Given the description of an element on the screen output the (x, y) to click on. 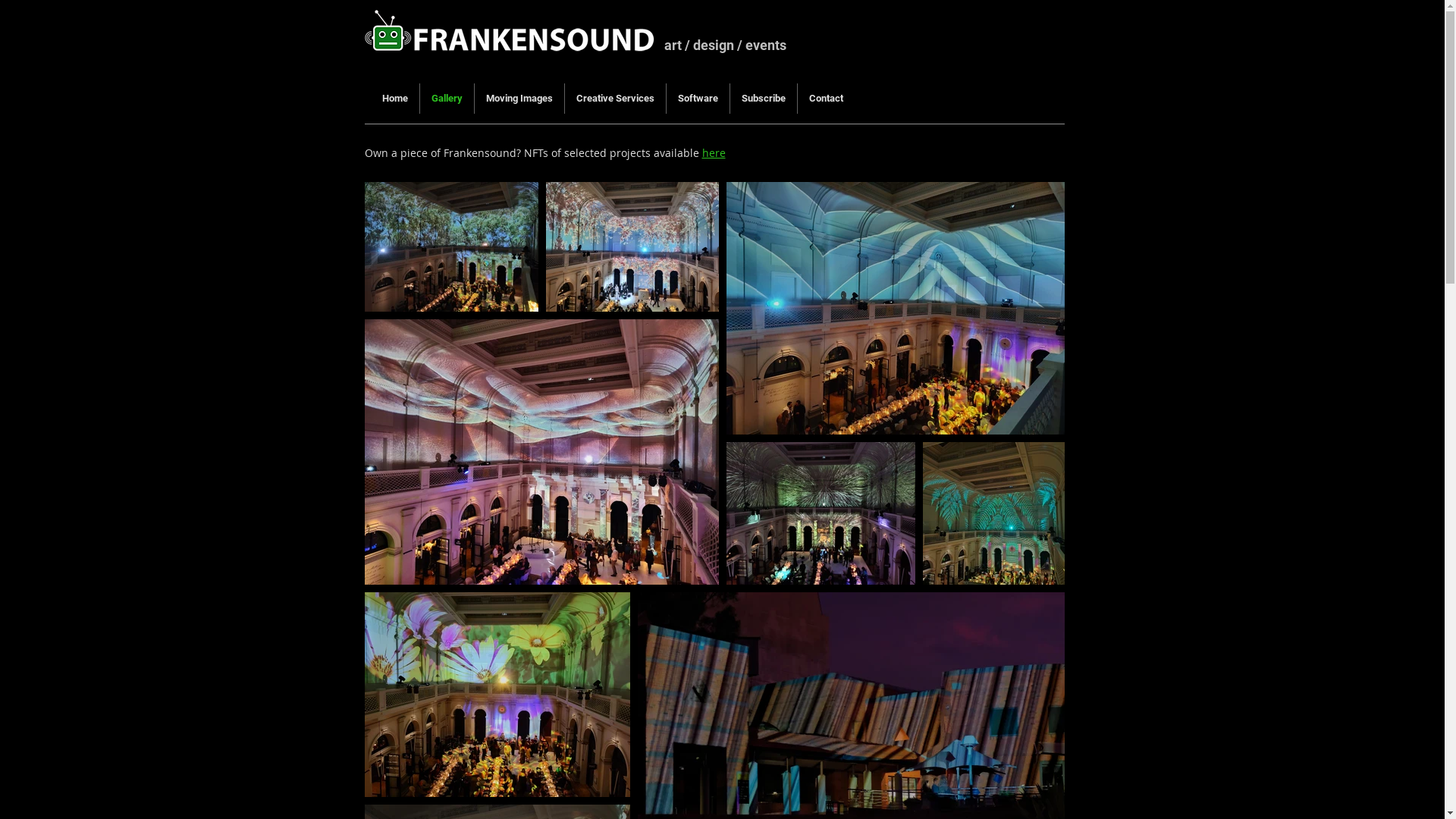
here Element type: text (713, 152)
Contact Element type: text (825, 98)
Moving Images Element type: text (519, 98)
Creative Services Element type: text (614, 98)
Home Element type: text (394, 98)
Gallery Element type: text (446, 98)
Subscribe Element type: text (762, 98)
